Given the description of an element on the screen output the (x, y) to click on. 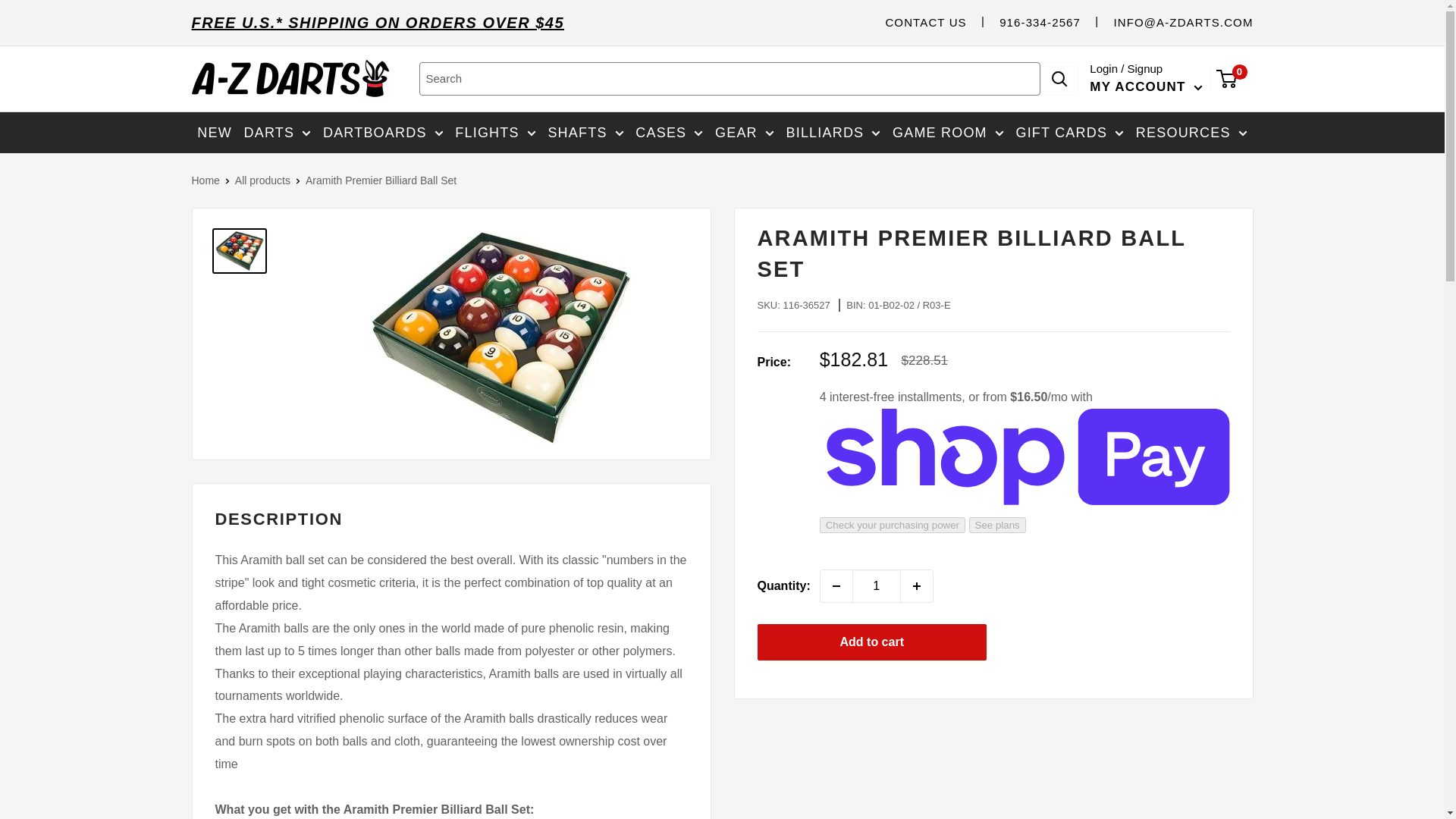
Increase quantity by 1 (917, 585)
CONTACT US (925, 21)
916-334-2567 (1039, 21)
1 (876, 585)
Decrease quantity by 1 (836, 585)
